Given the description of an element on the screen output the (x, y) to click on. 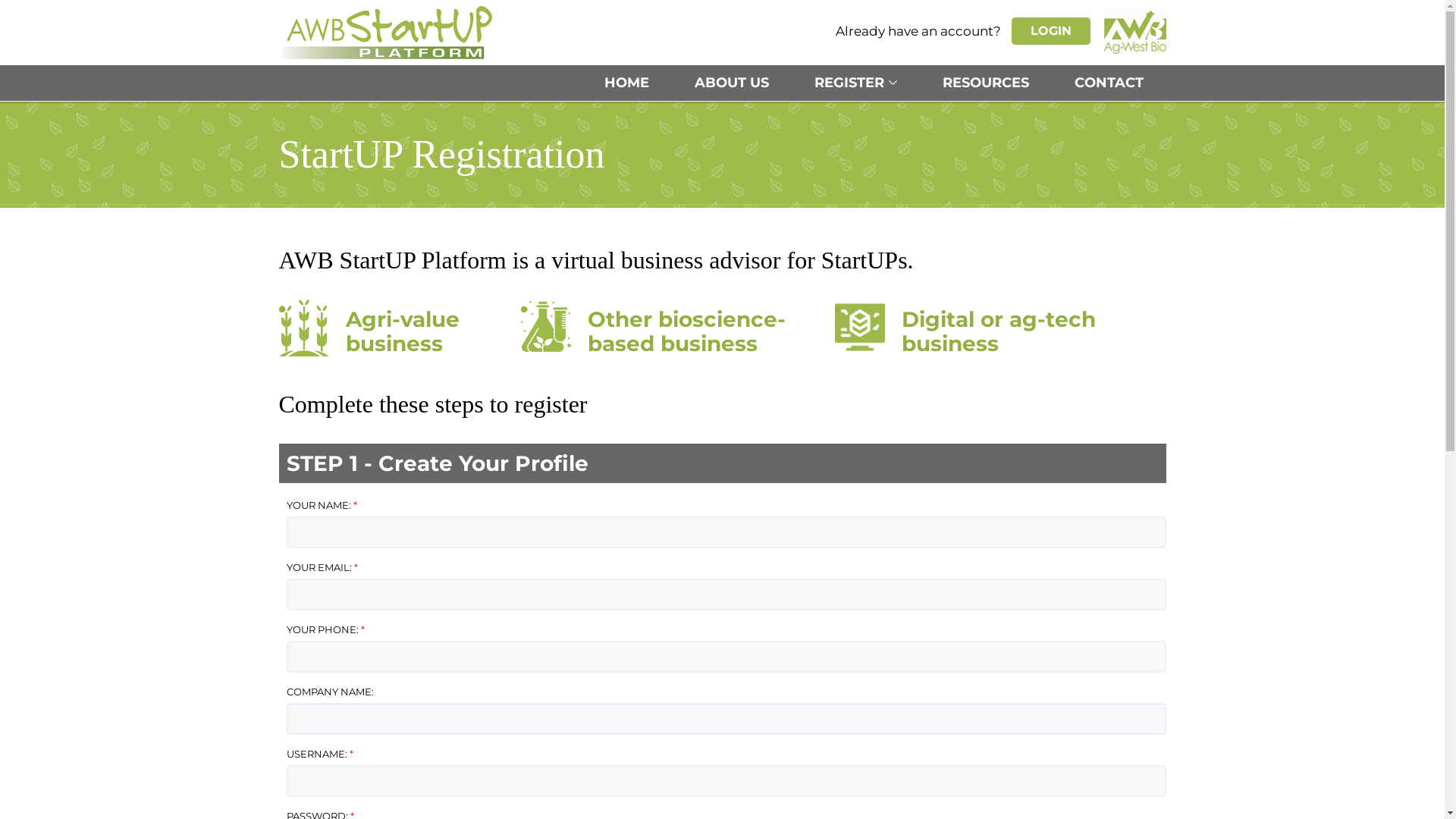
HOME Element type: text (625, 82)
SUBMIT Element type: text (66, 17)
CONTACT Element type: text (1108, 82)
LOGIN Element type: text (1050, 30)
REGISTER Element type: text (855, 82)
Ag-West Bio Element type: hover (1135, 31)
ABOUT US Element type: text (731, 82)
RESOURCES Element type: text (985, 82)
AWB StartUP Platform Element type: hover (385, 32)
